Given the description of an element on the screen output the (x, y) to click on. 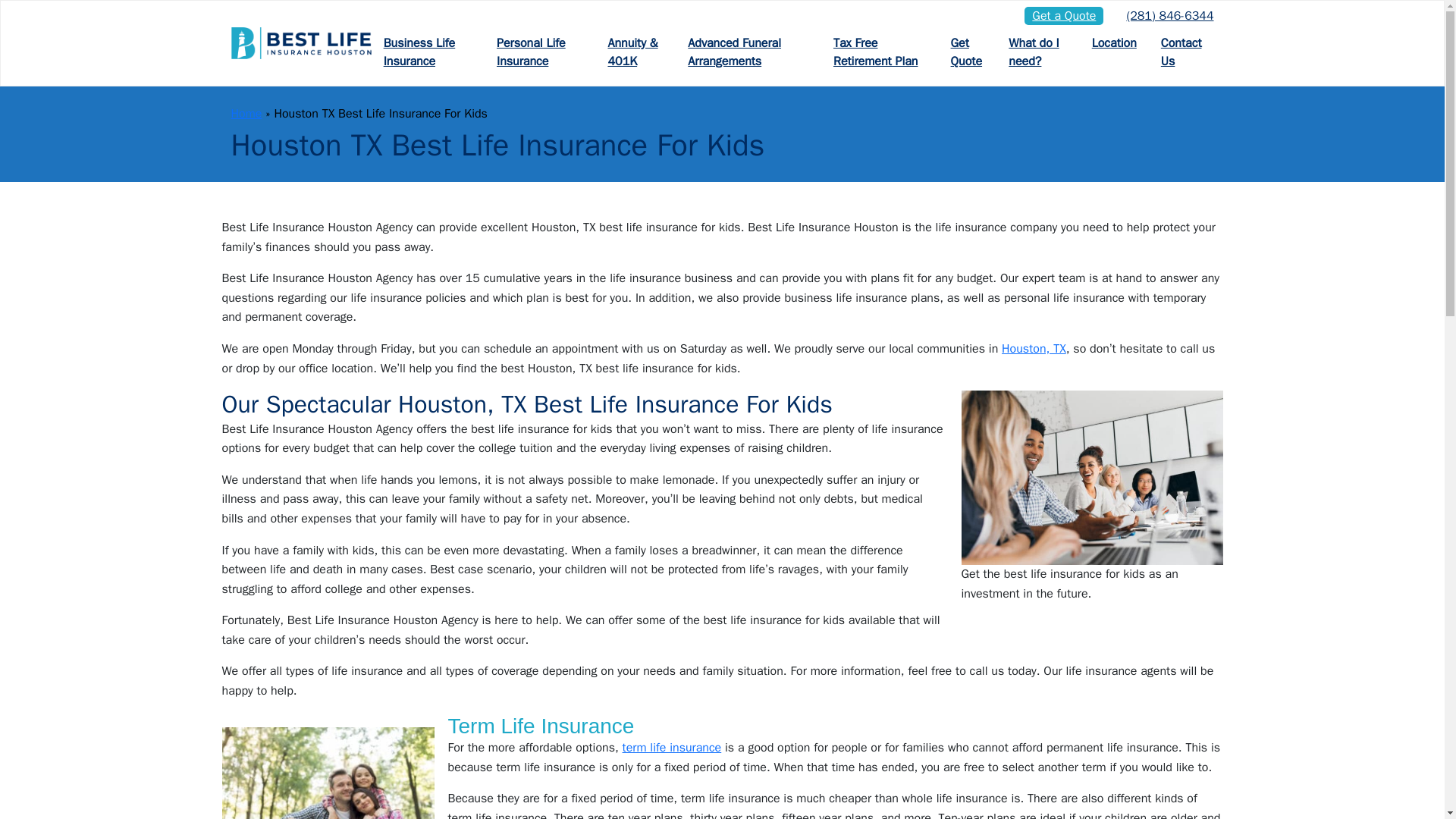
Contact Us (1181, 52)
Home (246, 113)
Personal Life Insurance (539, 52)
Get Quote (968, 52)
Houston, TX (1033, 348)
Location (1114, 43)
What do I need? (1036, 52)
Business Life Insurance (427, 52)
Get a Quote (1064, 15)
Advanced Funeral Arrangements (748, 52)
term life insurance (672, 747)
Tax Free Retirement Plan (880, 52)
